Given the description of an element on the screen output the (x, y) to click on. 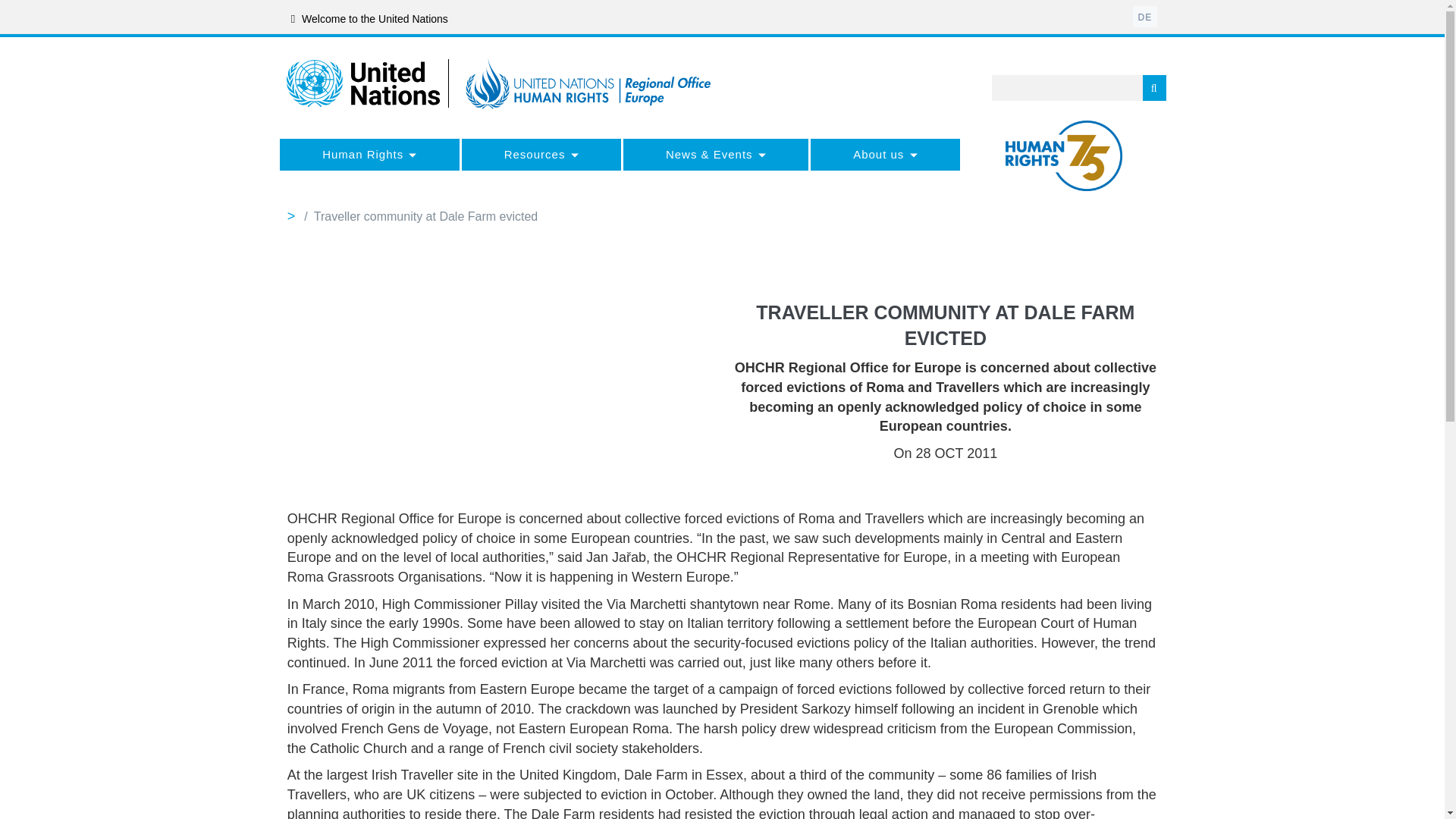
Resources (541, 154)
DE (1144, 16)
Welcome to the United Nations (369, 19)
Human Rights (369, 154)
About us (884, 154)
